Given the description of an element on the screen output the (x, y) to click on. 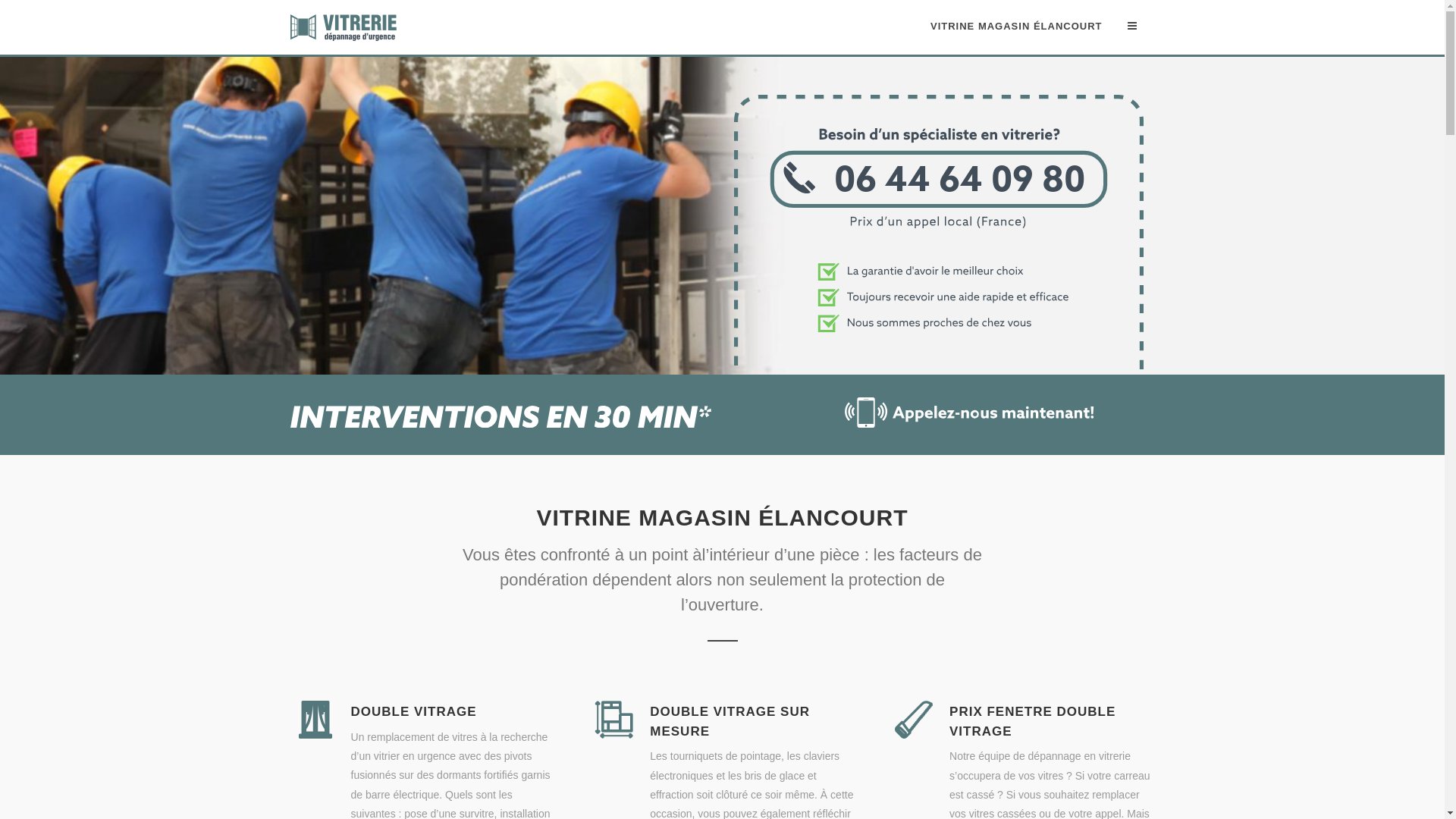
DOUBLE VITRAGE SUR MESURE Element type: text (729, 721)
PRIX FENETRE DOUBLE VITRAGE Element type: text (1032, 721)
DOUBLE VITRAGE Element type: text (413, 711)
06 44 64 09 80 Element type: text (938, 366)
